Given the description of an element on the screen output the (x, y) to click on. 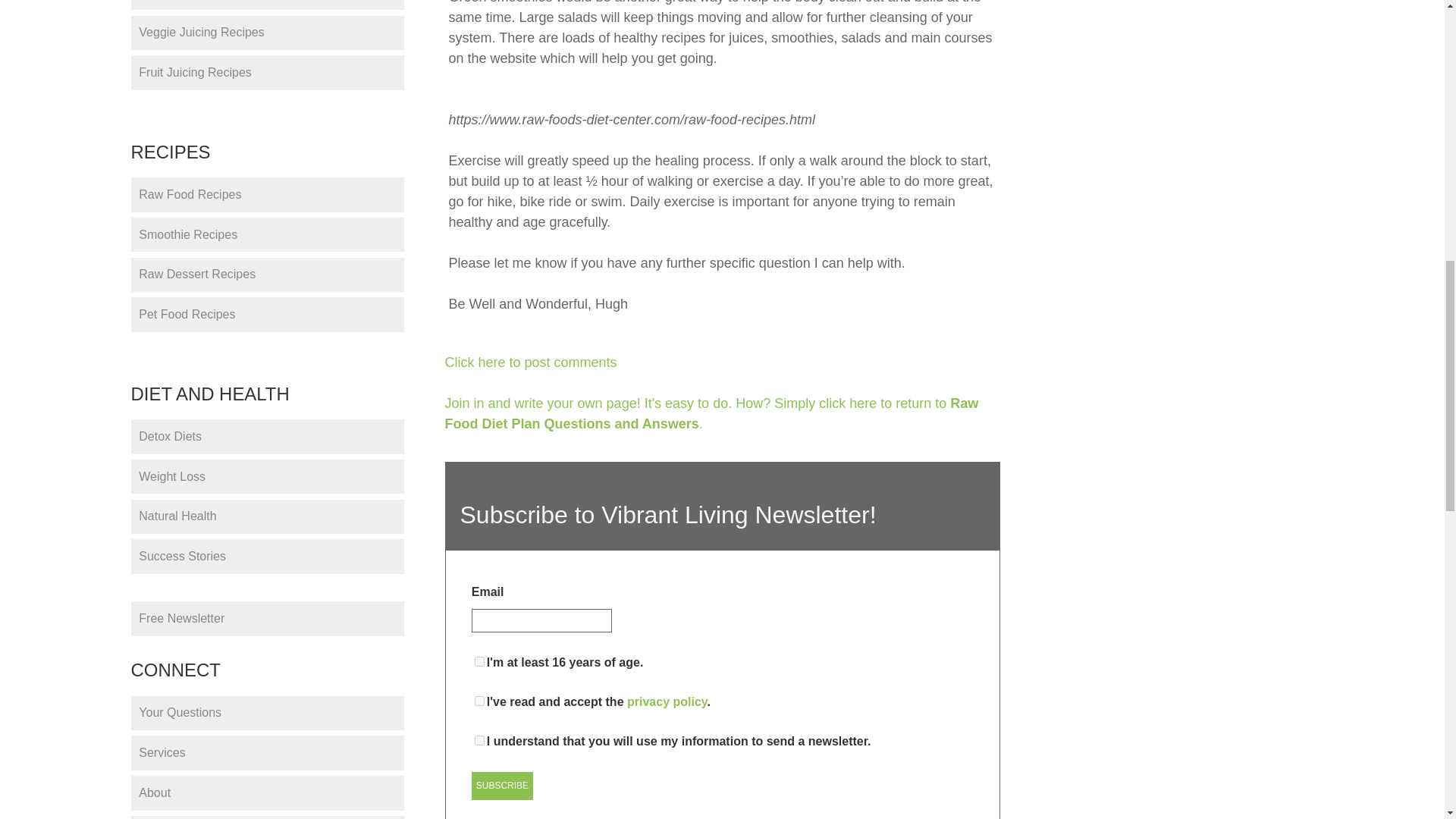
on (479, 740)
on (479, 700)
Click here to post comments (529, 362)
privacy policy (667, 701)
What is the Best Juicer (267, 5)
on (479, 661)
SUBSCRIBE (501, 786)
